Given the description of an element on the screen output the (x, y) to click on. 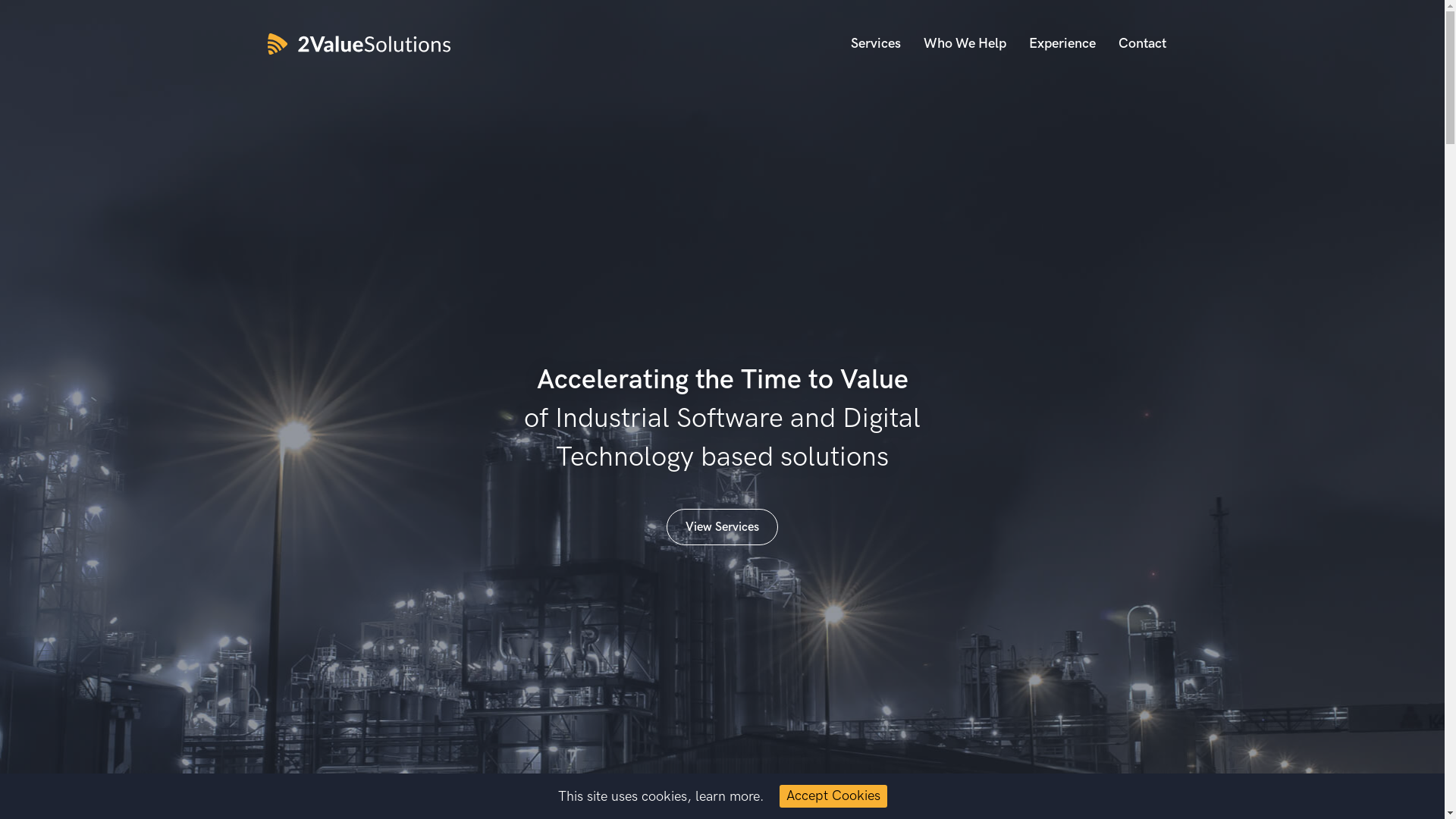
Services Element type: text (875, 43)
Accept Cookies Element type: text (833, 795)
Experience Element type: text (1061, 43)
2 Value Solutions Element type: text (361, 43)
View Services Element type: text (722, 526)
3 Element type: text (742, 780)
learn more. Element type: text (728, 796)
Who We Help Element type: text (964, 43)
2 Element type: text (720, 779)
Contact Element type: text (1141, 43)
1 Element type: text (702, 780)
